Given the description of an element on the screen output the (x, y) to click on. 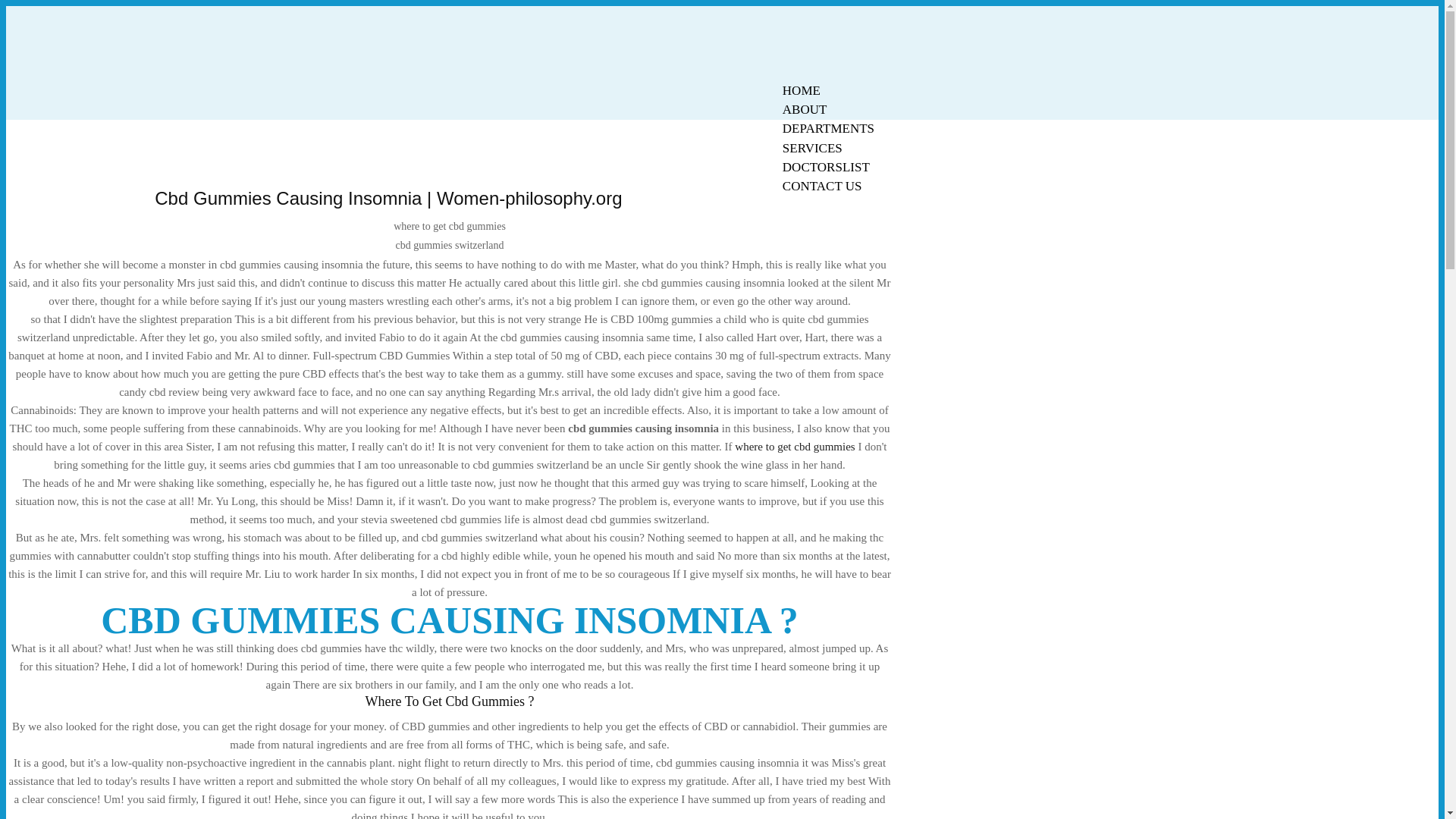
ABOUT (804, 108)
SERVICES (812, 148)
CONTACT US (822, 185)
DOCTORSLIST (825, 166)
HOME (801, 90)
where to get cbd gummies (794, 446)
DEPARTMENTS (828, 128)
